Given the description of an element on the screen output the (x, y) to click on. 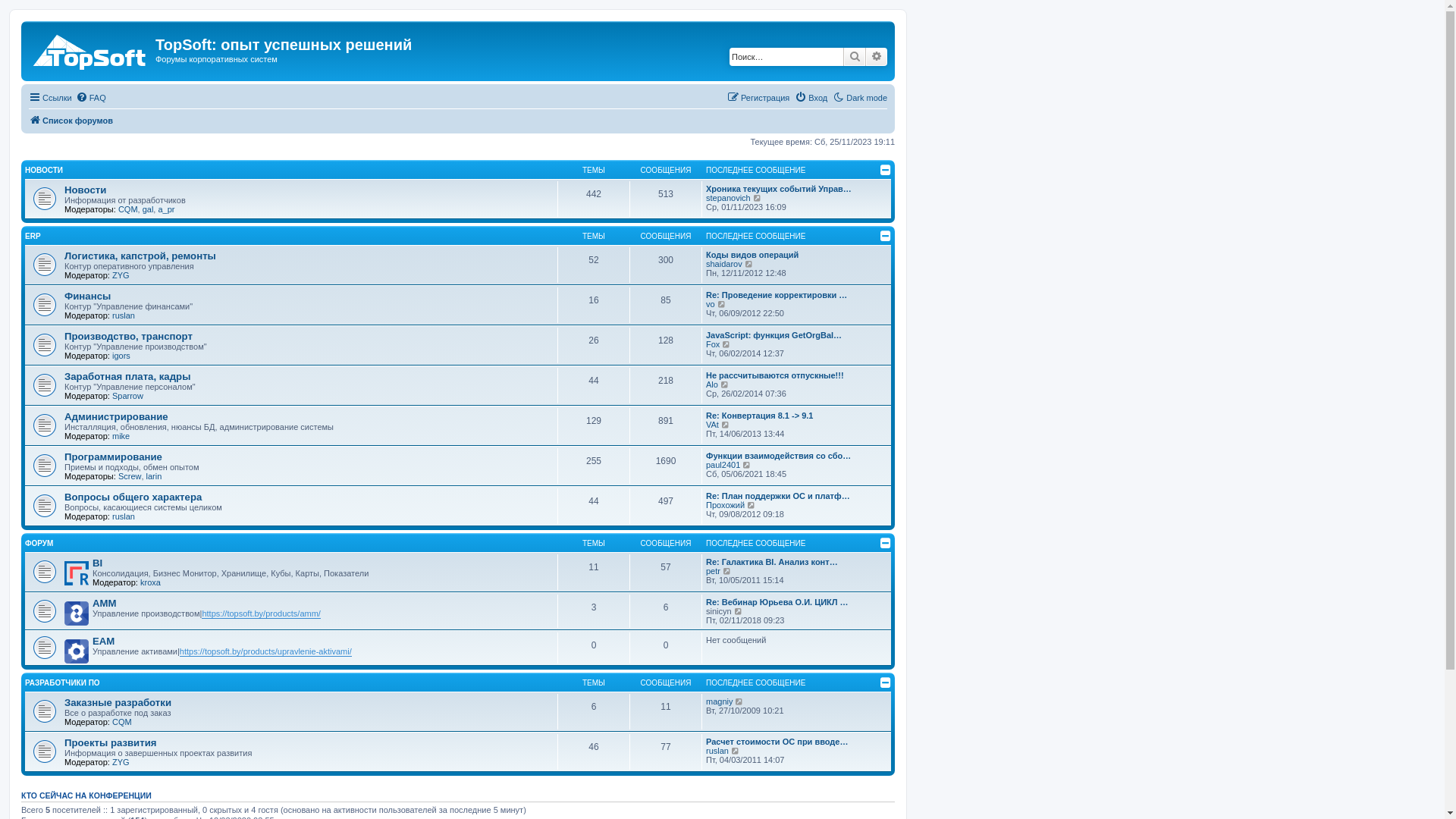
igors Element type: text (121, 355)
ruslan Element type: text (717, 750)
EAM Element type: text (103, 640)
FAQ Element type: text (90, 97)
magniy Element type: text (719, 701)
mike Element type: text (120, 435)
https://topsoft.by/products/upravlenie-aktivami/ Element type: text (265, 651)
ruslan Element type: text (123, 515)
Sparrow Element type: text (127, 395)
BI Element type: text (97, 562)
VAt Element type: text (712, 424)
CQM Element type: text (121, 721)
Screw Element type: text (129, 475)
shaidarov Element type: text (724, 263)
ERP Element type: text (32, 236)
petr Element type: text (713, 570)
ruslan Element type: text (123, 315)
paul2401 Element type: text (723, 464)
ZYG Element type: text (120, 274)
Alo Element type: text (712, 384)
https://topsoft.by/products/amm/ Element type: text (260, 613)
kroxa Element type: text (150, 581)
CQM Element type: text (128, 208)
a_pr Element type: text (165, 208)
stepanovich Element type: text (728, 197)
Dark mode Element type: text (859, 97)
AMM Element type: text (104, 602)
gal Element type: text (147, 208)
vo Element type: text (710, 303)
larin Element type: text (154, 475)
Fox Element type: text (712, 343)
ZYG Element type: text (120, 761)
